Given the description of an element on the screen output the (x, y) to click on. 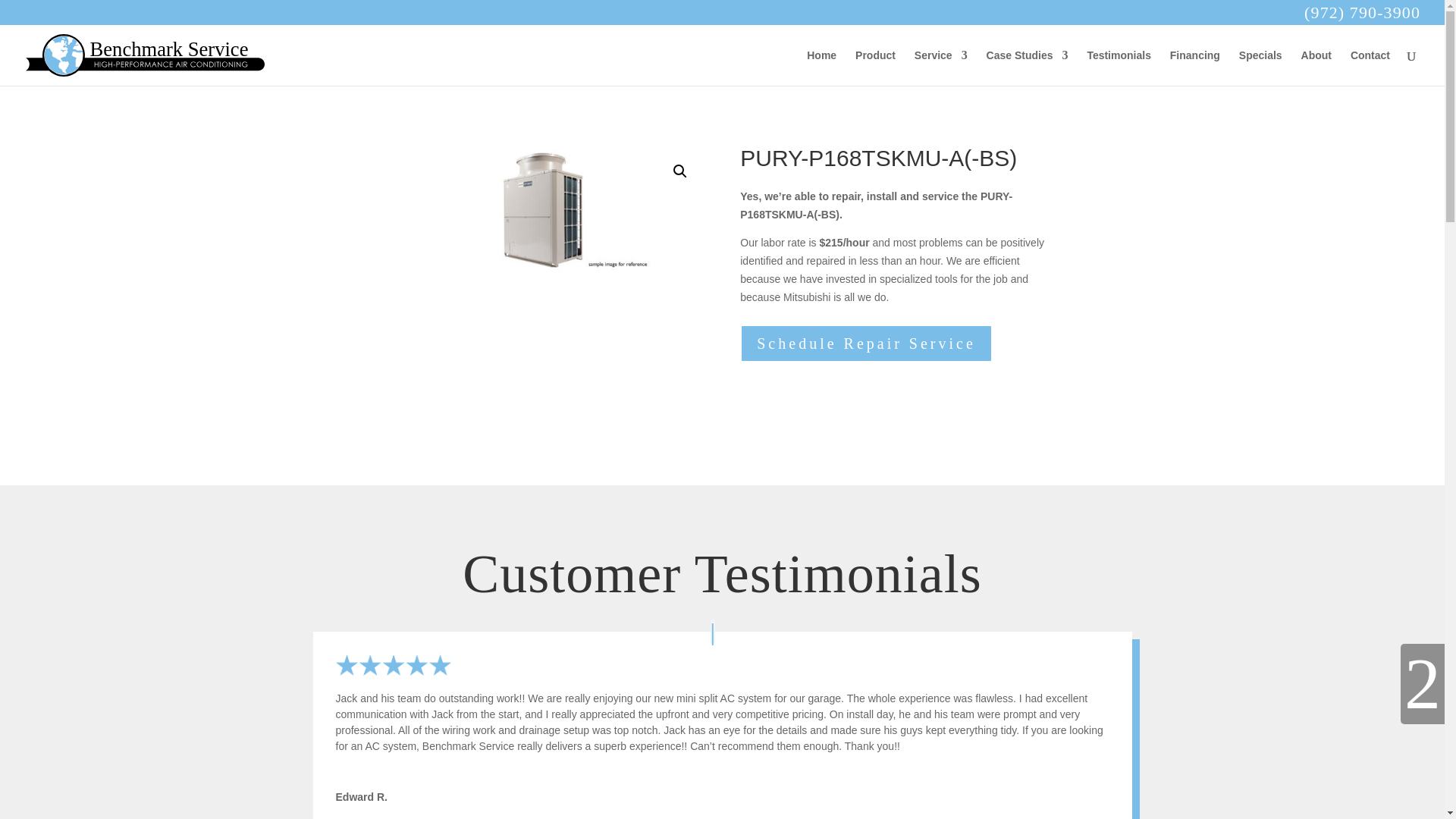
Financing (1195, 67)
Product (875, 67)
Testimonials (1118, 67)
Case Studies (1027, 67)
Service (941, 67)
Specials (1260, 67)
Contact (1370, 67)
